Given the description of an element on the screen output the (x, y) to click on. 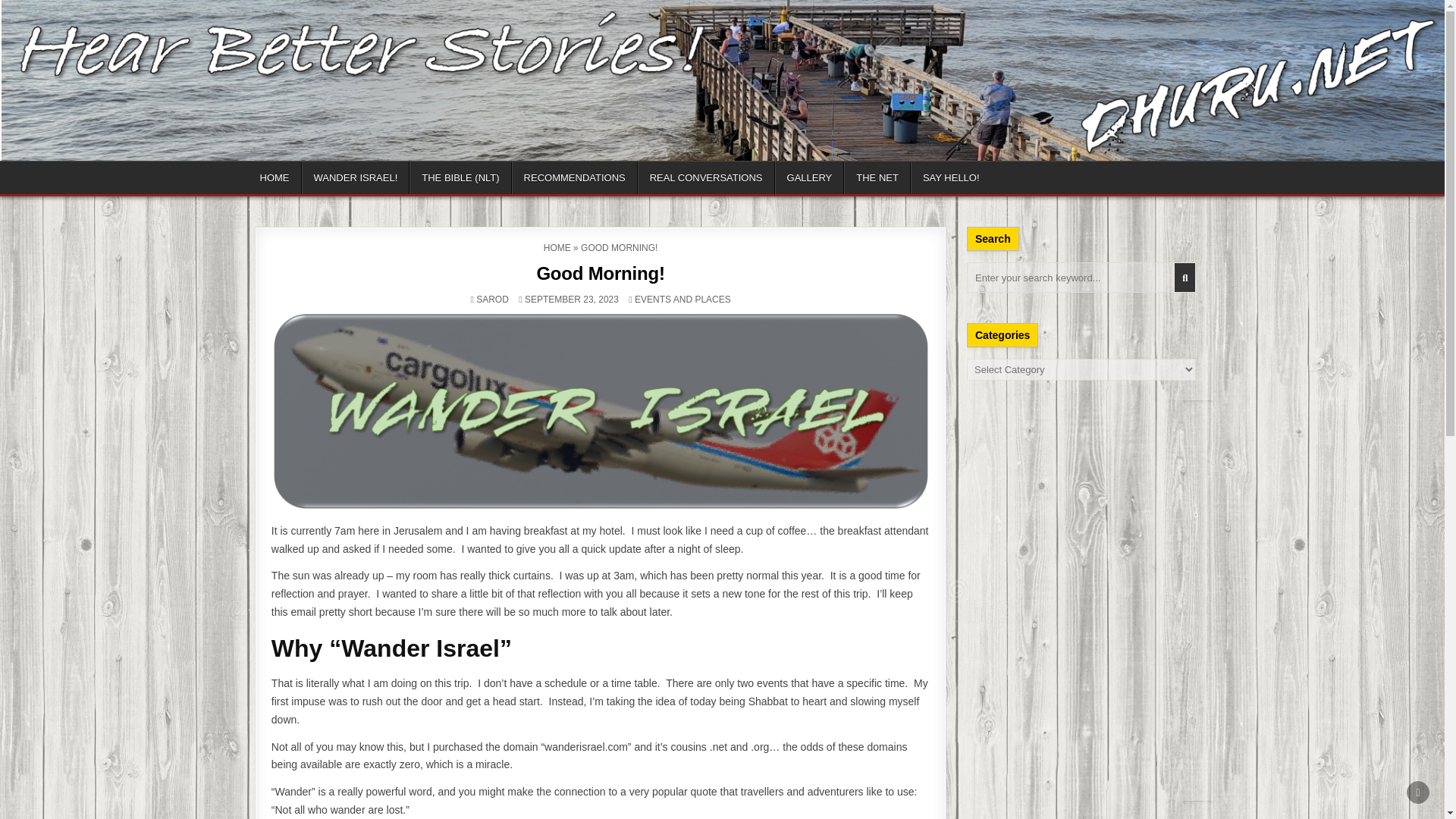
THE NET (877, 177)
WANDER ISRAEL! (355, 177)
EVENTS AND PLACES (682, 299)
SCROLL TO TOP (1417, 792)
SCROLL TO TOP (1417, 792)
HOME (556, 247)
RECOMMENDATIONS (574, 177)
Good Morning! (599, 272)
SAY HELLO! (951, 177)
Scroll to Top (1417, 792)
